Given the description of an element on the screen output the (x, y) to click on. 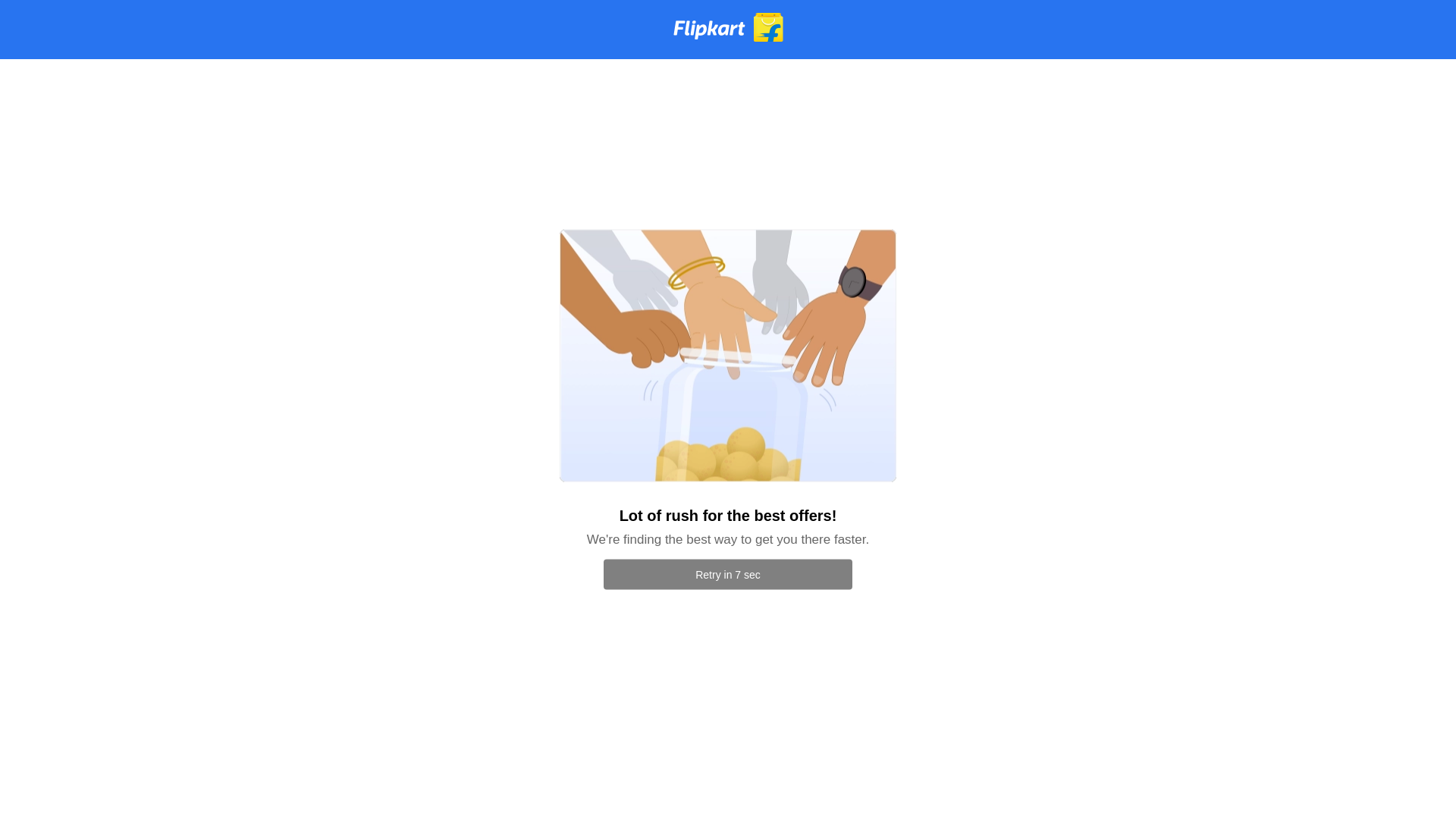
Retry in 7 sec (727, 574)
